Given the description of an element on the screen output the (x, y) to click on. 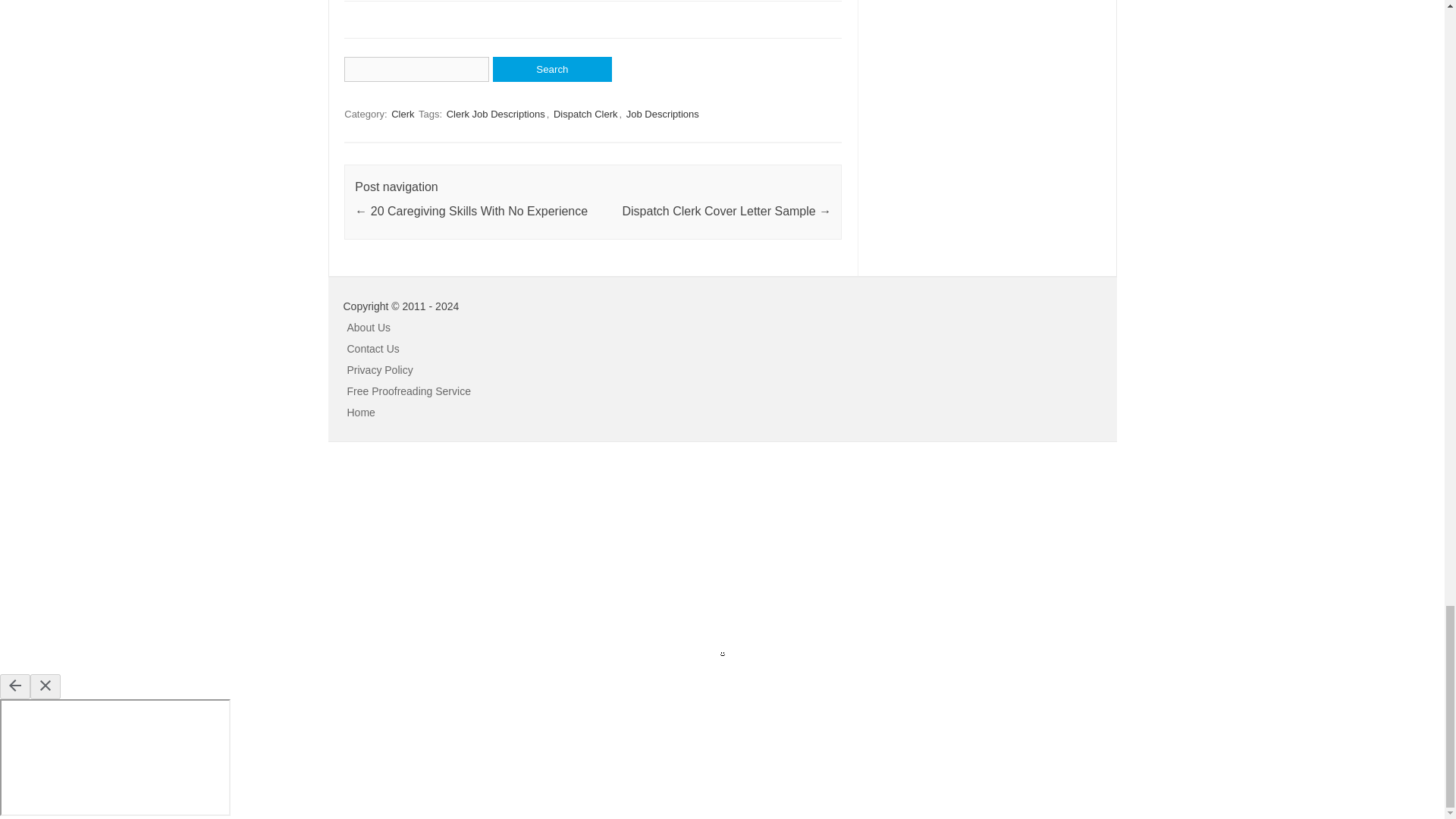
Home (361, 412)
Job Descriptions (662, 114)
Free Proofreading Service (408, 390)
Clerk (402, 114)
Search (552, 68)
About Us (369, 327)
Dispatch Clerk (585, 114)
Advertisement (113, 555)
Clerk Job Descriptions (496, 114)
Privacy Policy (380, 369)
Search (552, 68)
Contact Us (372, 348)
